Given the description of an element on the screen output the (x, y) to click on. 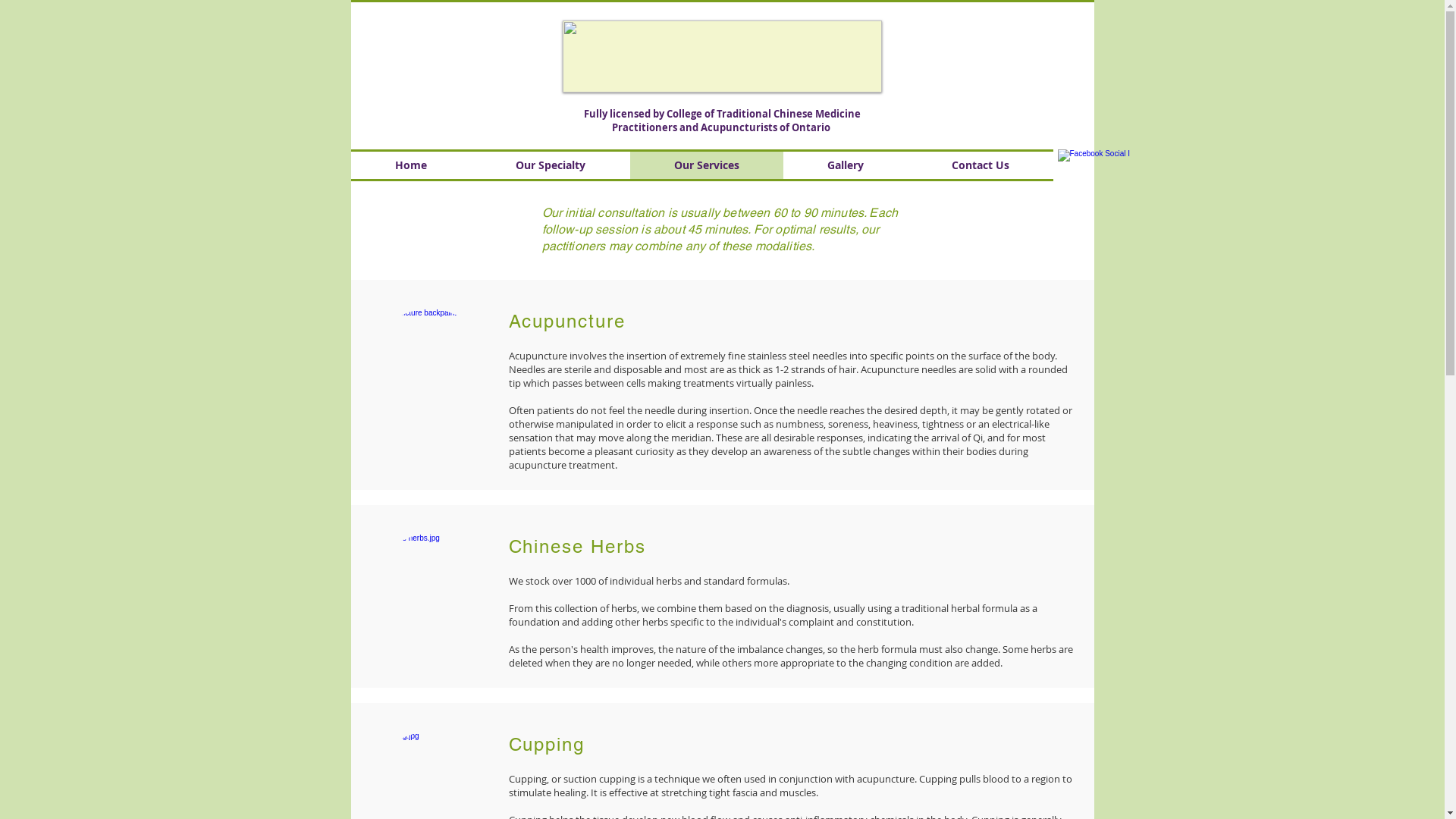
Our Specialty Element type: text (550, 164)
Gallery Element type: text (844, 164)
Contact Us Element type: text (979, 164)
Our Services Element type: text (705, 164)
Home Element type: text (410, 164)
